Given the description of an element on the screen output the (x, y) to click on. 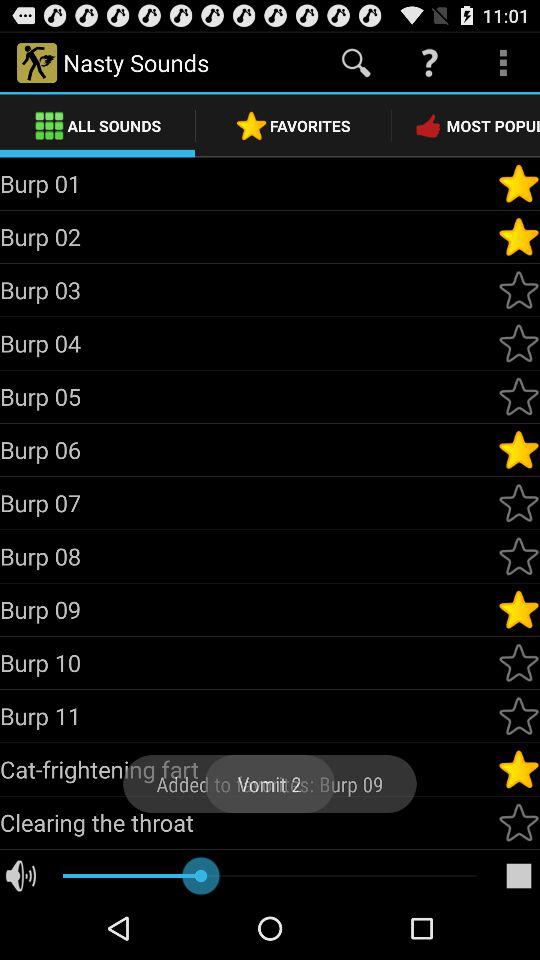
flip to the burp 11 icon (248, 715)
